Given the description of an element on the screen output the (x, y) to click on. 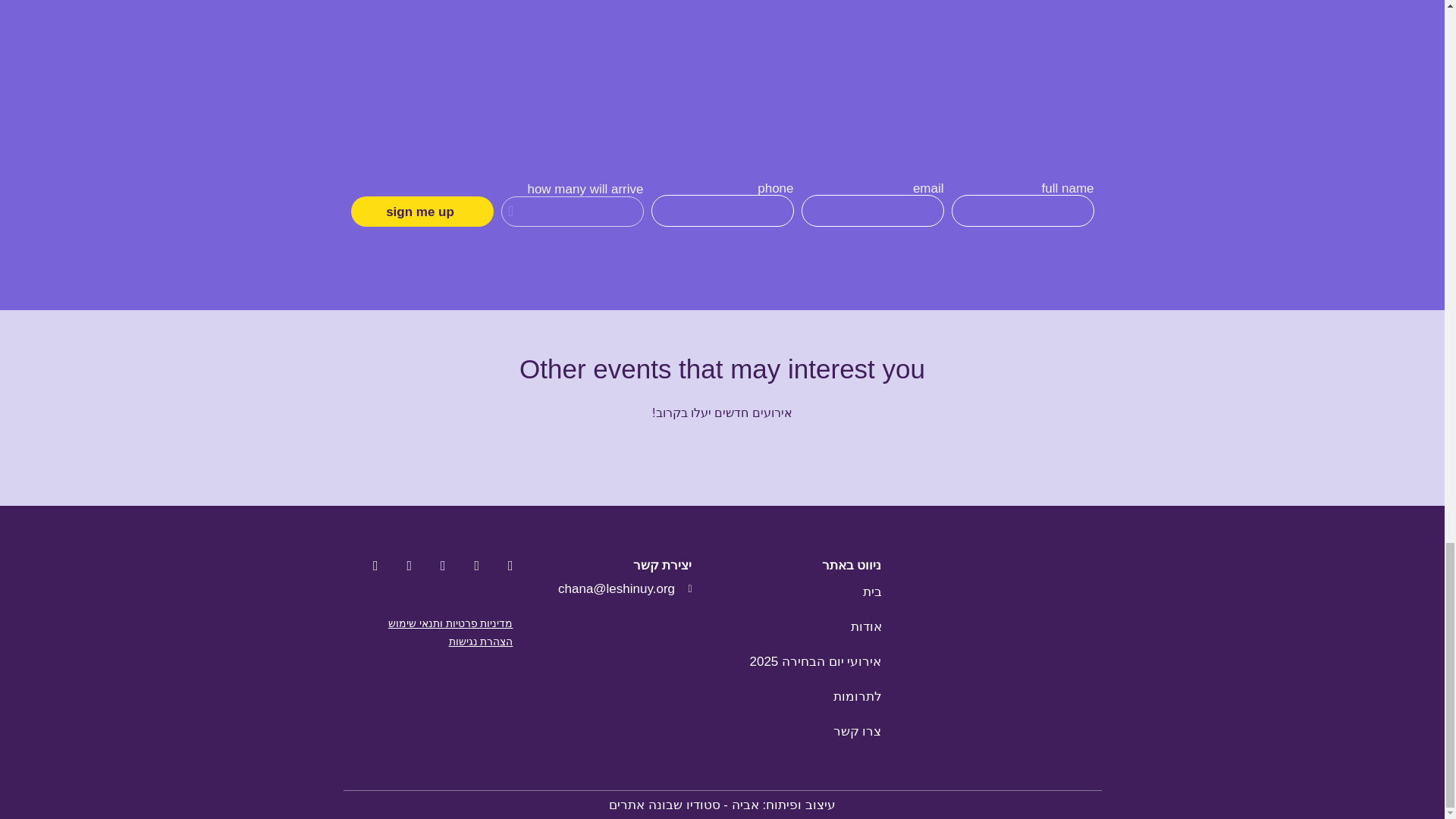
sign me up (421, 211)
